Given the description of an element on the screen output the (x, y) to click on. 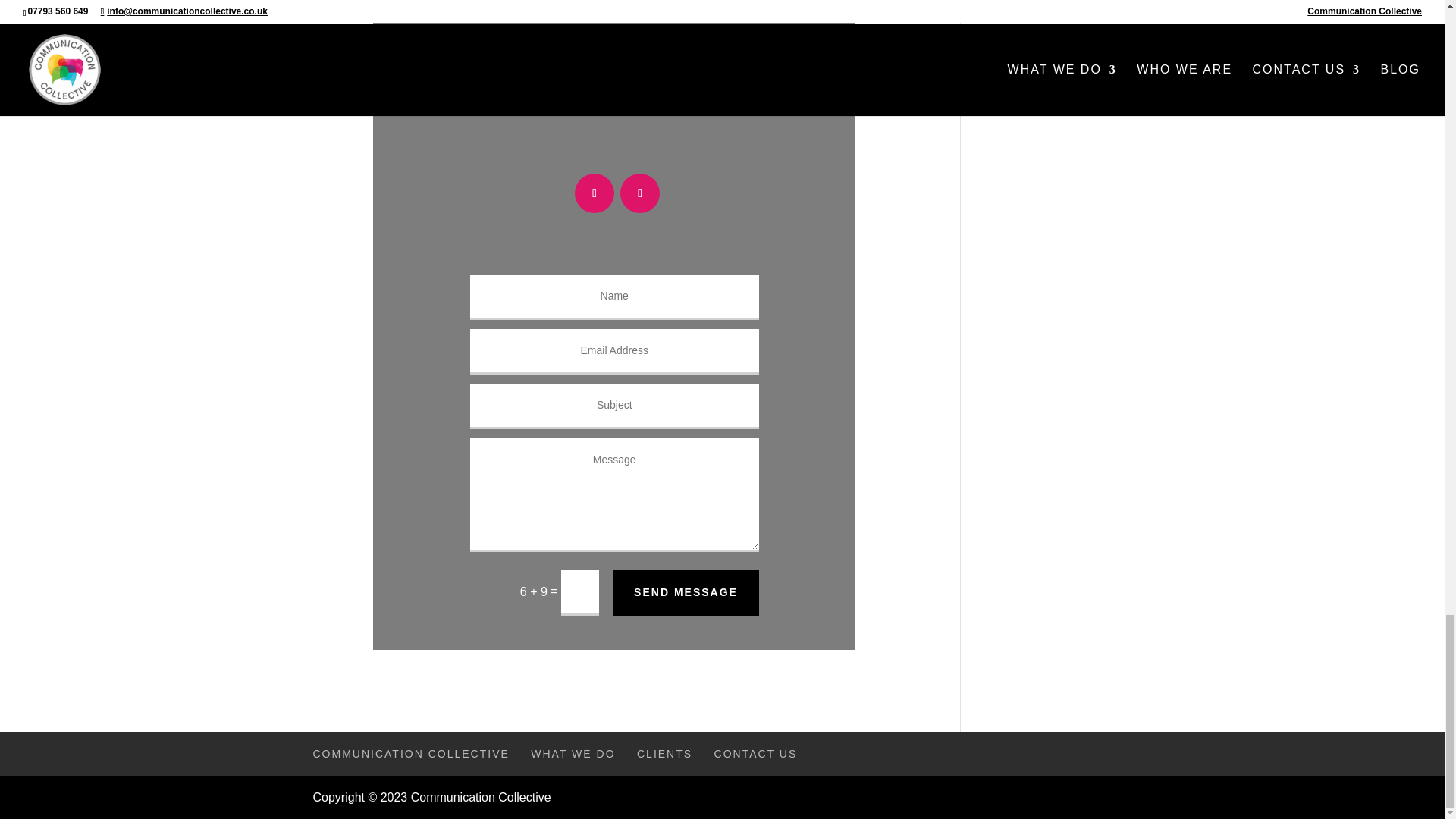
Follow on LinkedIn (594, 192)
Follow on Facebook (639, 192)
